Given the description of an element on the screen output the (x, y) to click on. 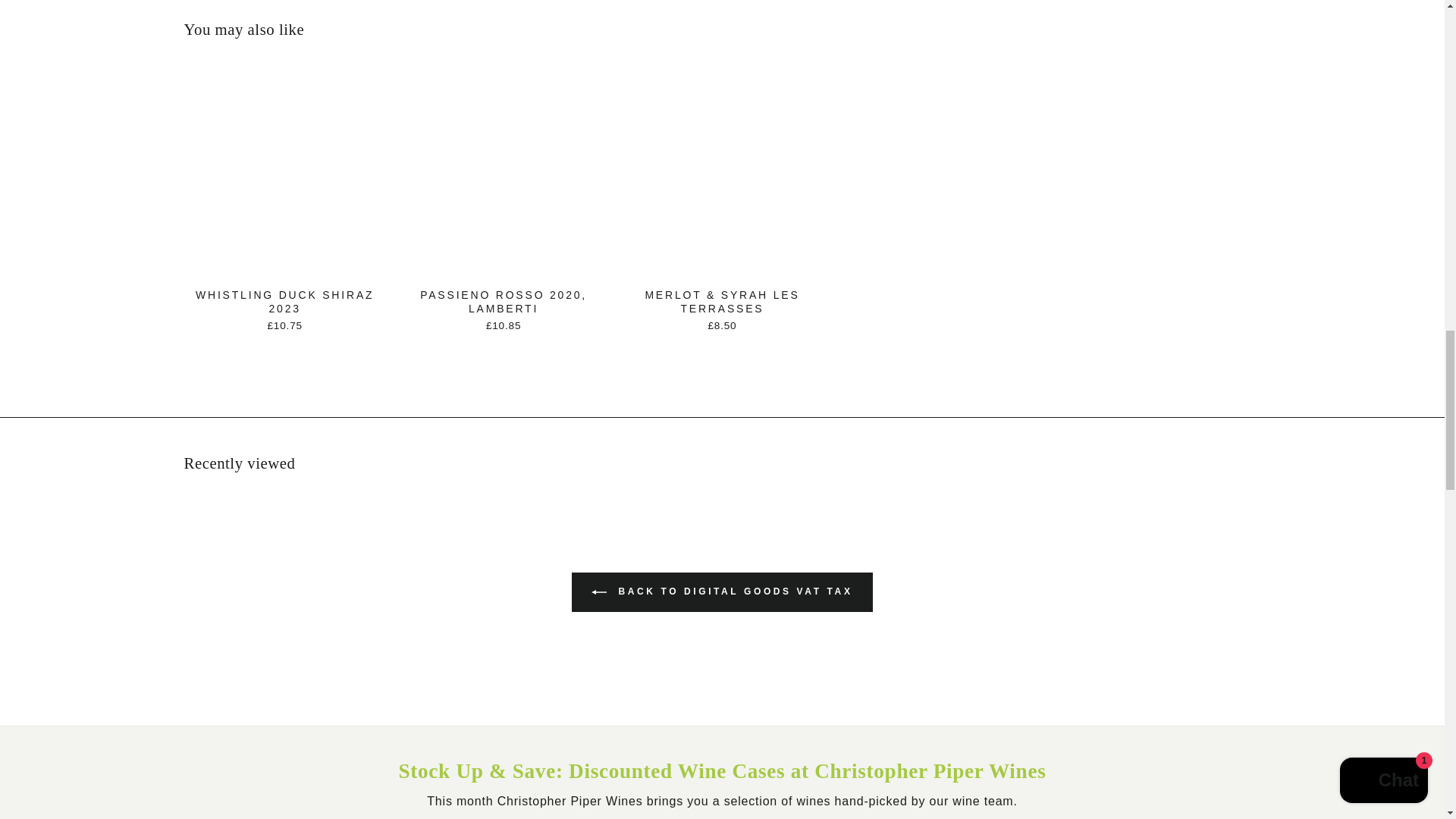
ICON-LEFT-ARROW (599, 591)
